Given the description of an element on the screen output the (x, y) to click on. 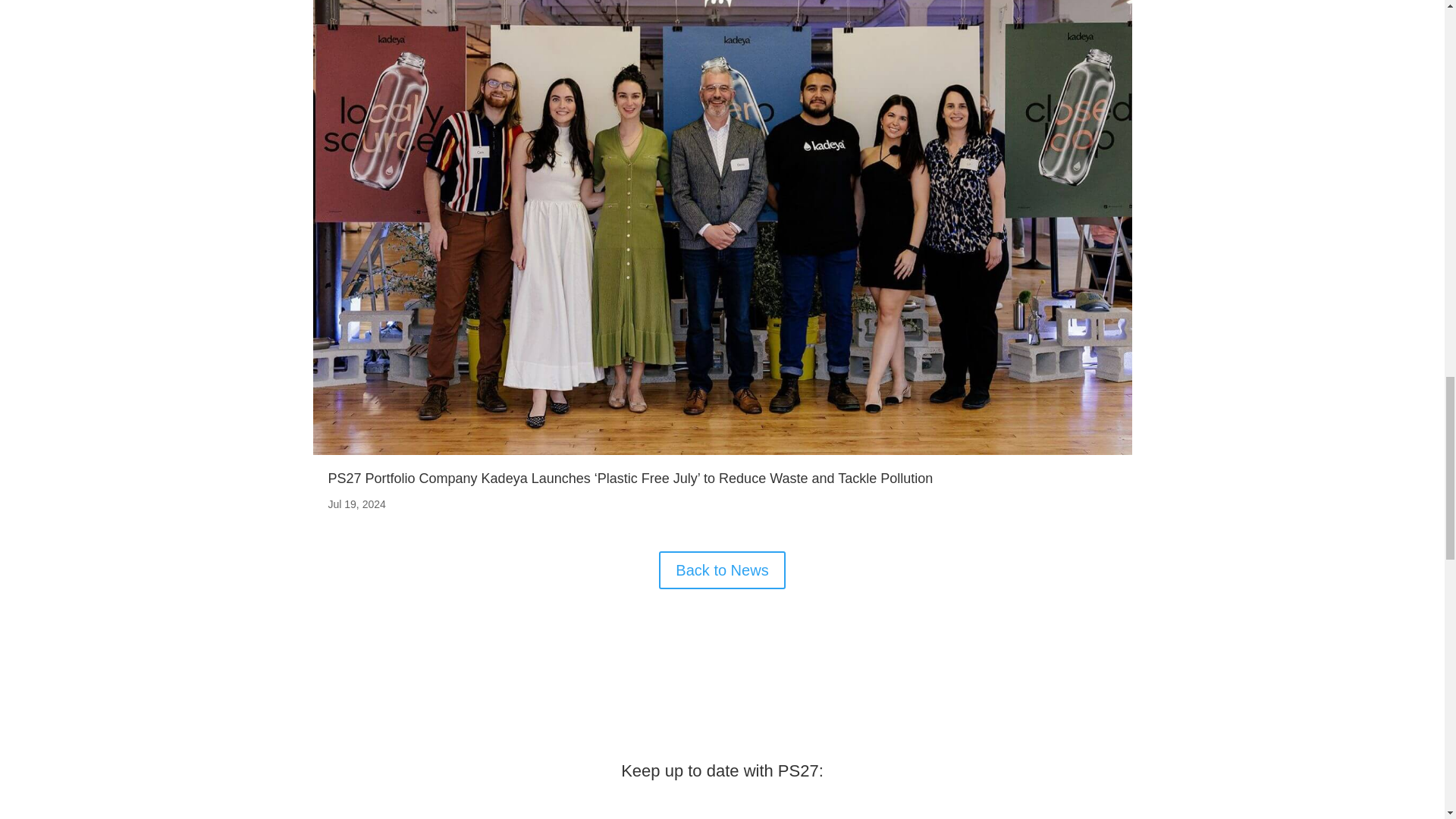
Back to News (721, 569)
